Given the description of an element on the screen output the (x, y) to click on. 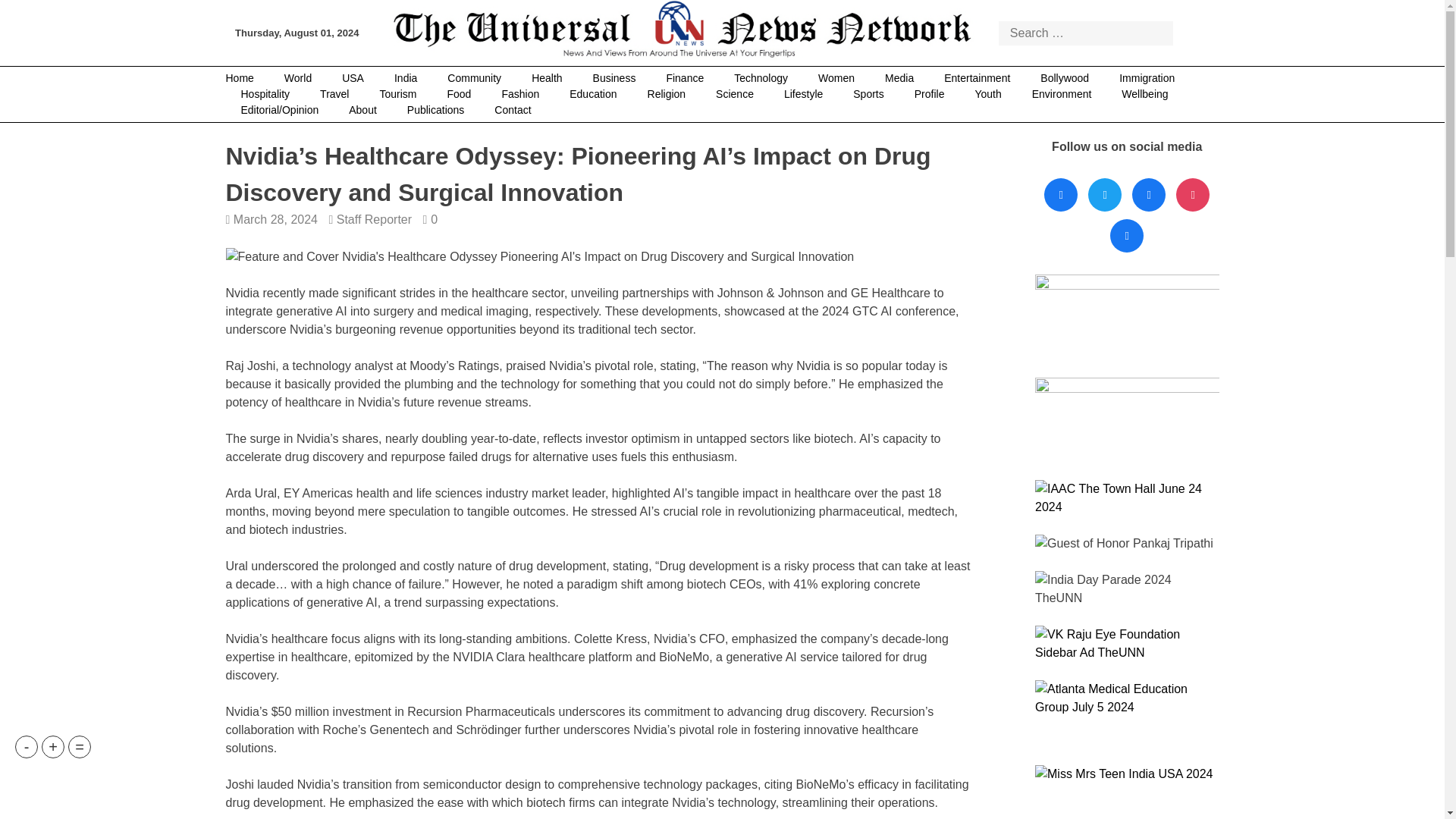
Decrease text size (25, 746)
Increase text size (53, 746)
Twitter (1104, 194)
Women (836, 78)
Business (614, 78)
Tourism (397, 94)
Technology (761, 78)
Search (1190, 32)
World (297, 78)
Staff Reporter (374, 219)
